Given the description of an element on the screen output the (x, y) to click on. 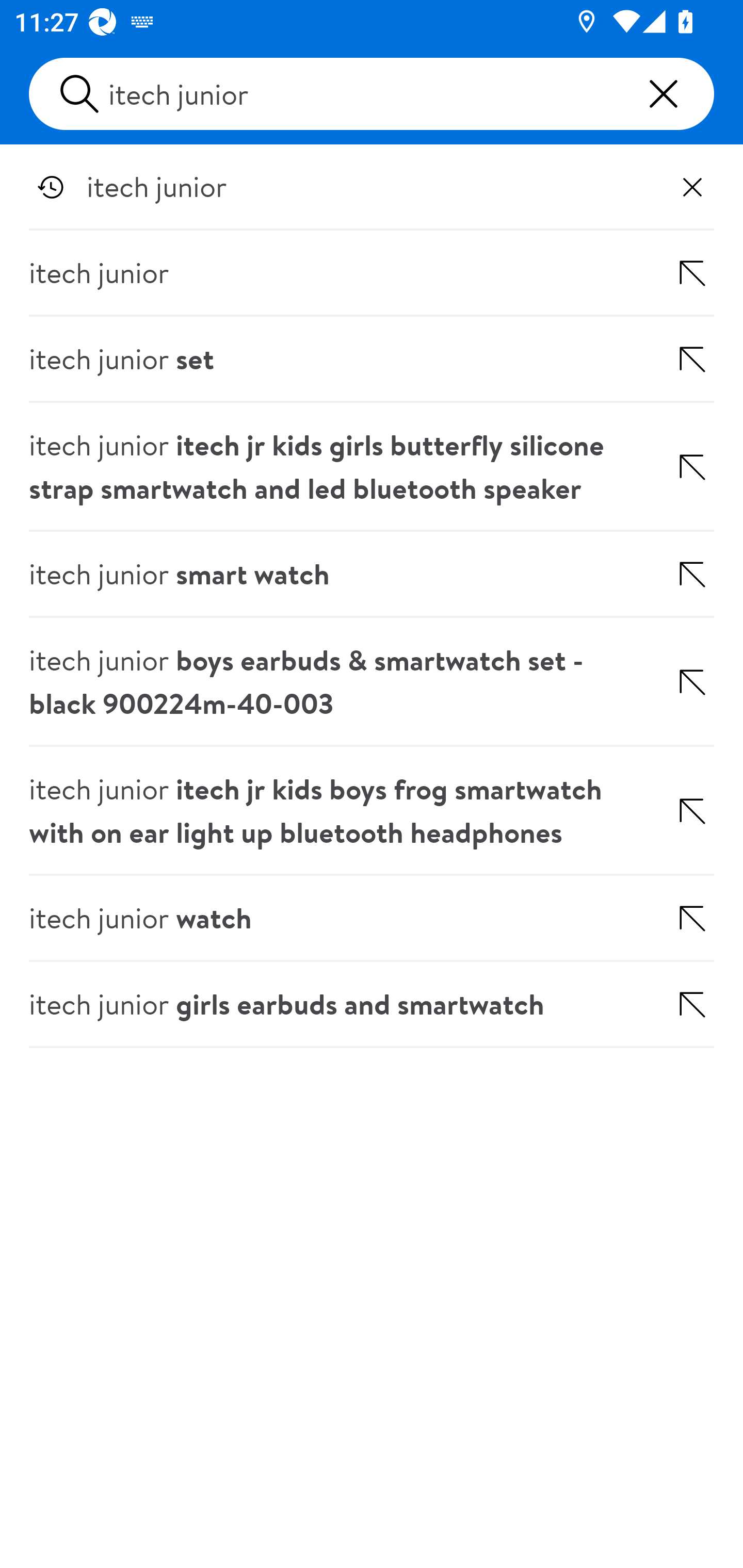
itech junior Clear Text (371, 94)
Clear Text (663, 94)
Remove recent search for itech junior (692, 187)
Add itech junior to search field (670, 273)
Add itech junior set to search field (670, 358)
Add itech junior smart watch to search field (670, 574)
Add itech junior watch to search field (670, 918)
